Given the description of an element on the screen output the (x, y) to click on. 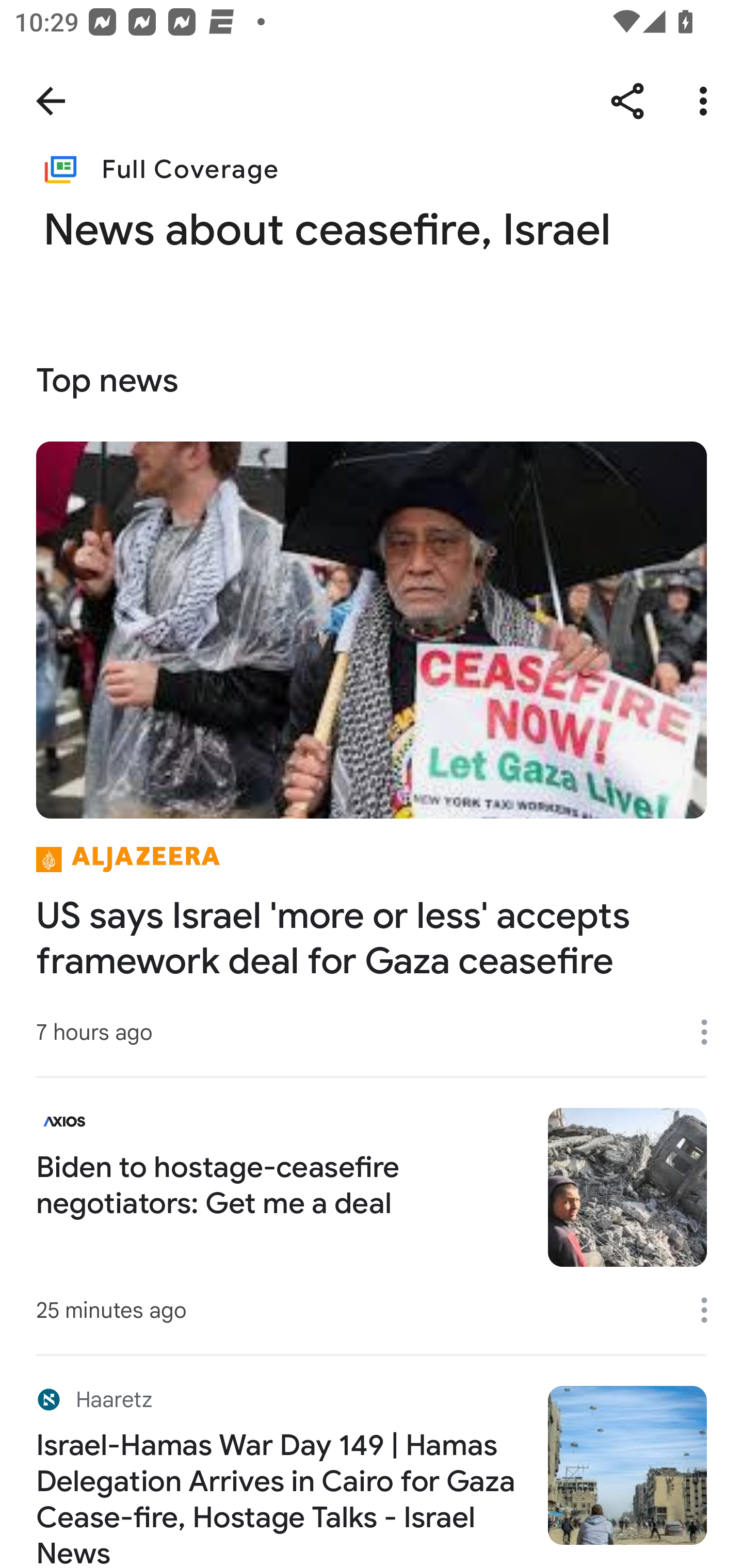
Navigate up (50, 101)
Share (626, 101)
More options (706, 101)
More options (711, 1032)
More options (711, 1309)
